Given the description of an element on the screen output the (x, y) to click on. 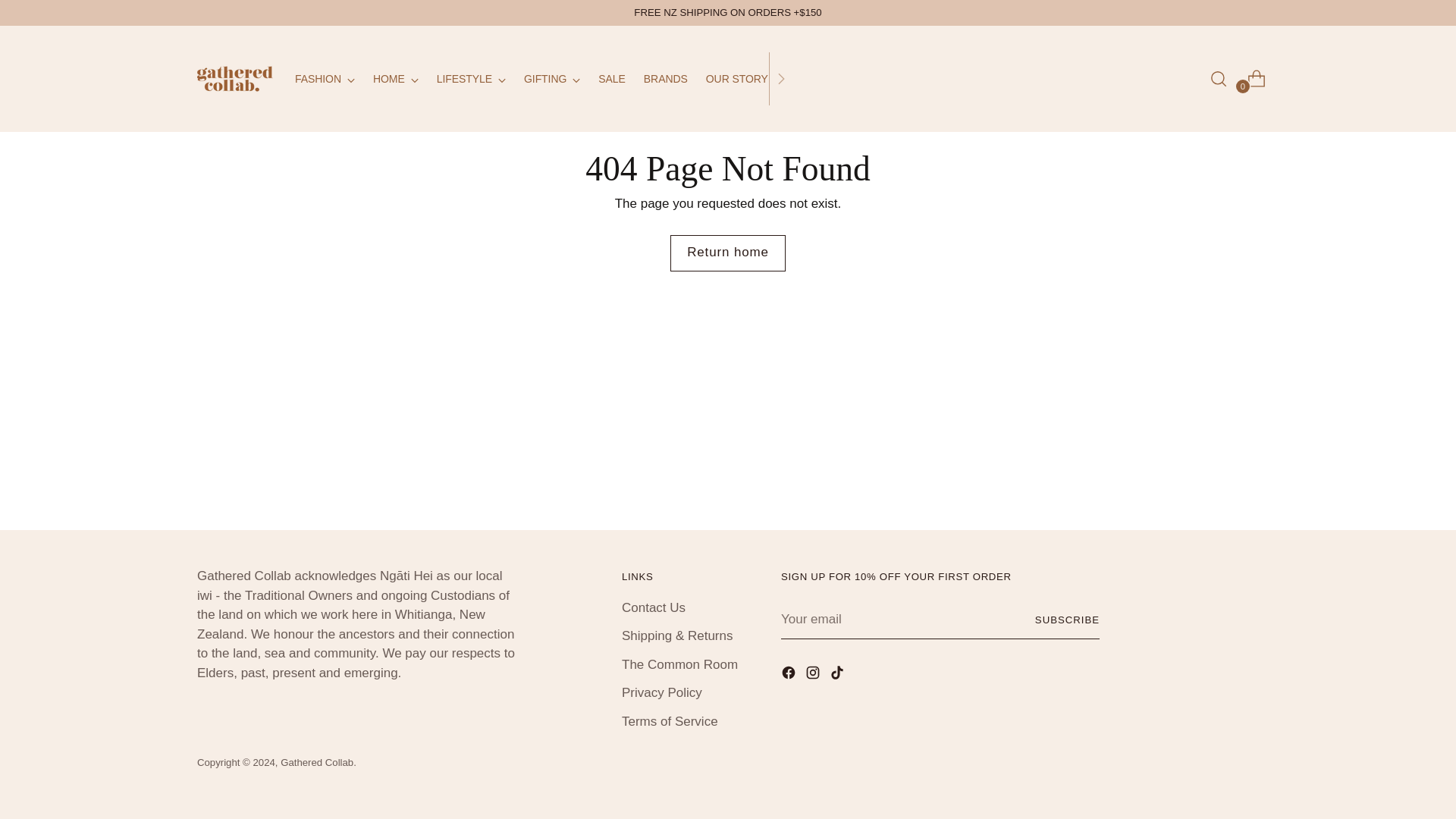
Gathered Collab on Facebook (789, 675)
Gathered Collab on Tiktok (838, 675)
LIFESTYLE (470, 78)
Gathered Collab on Instagram (814, 675)
HOME (395, 78)
FASHION (325, 78)
Next (781, 78)
